Given the description of an element on the screen output the (x, y) to click on. 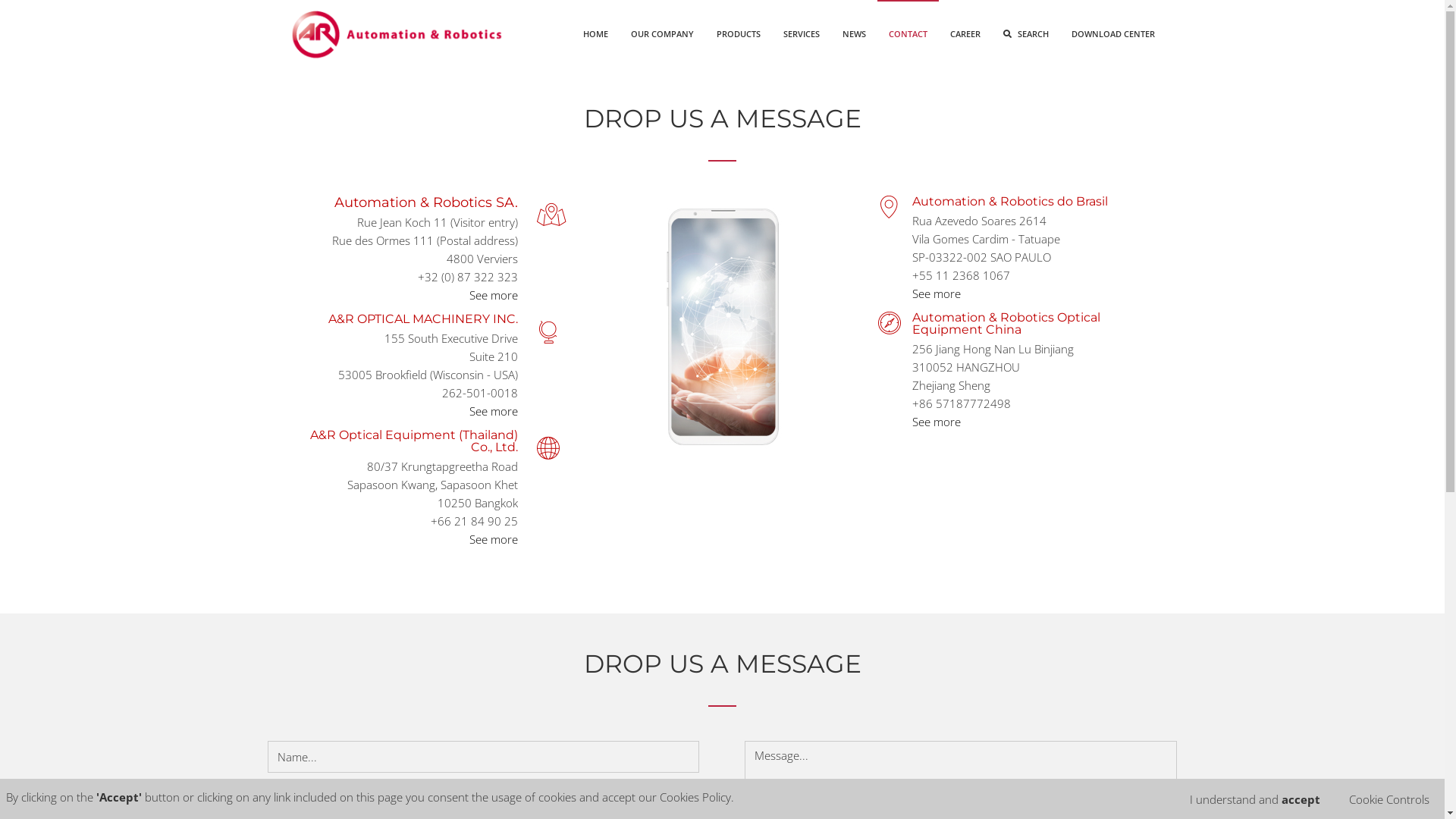
I understand and accept Element type: text (1254, 798)
See more Element type: text (492, 294)
See more Element type: text (935, 293)
HOME Element type: text (595, 34)
DOWNLOAD CENTER Element type: text (1113, 34)
See more Element type: text (935, 421)
See more Element type: text (492, 538)
NEWS Element type: text (854, 34)
CAREER Element type: text (964, 34)
See more Element type: text (492, 410)
CONTACT Element type: text (907, 34)
AR Element type: hover (396, 34)
Cookie Controls Element type: text (1389, 798)
